Given the description of an element on the screen output the (x, y) to click on. 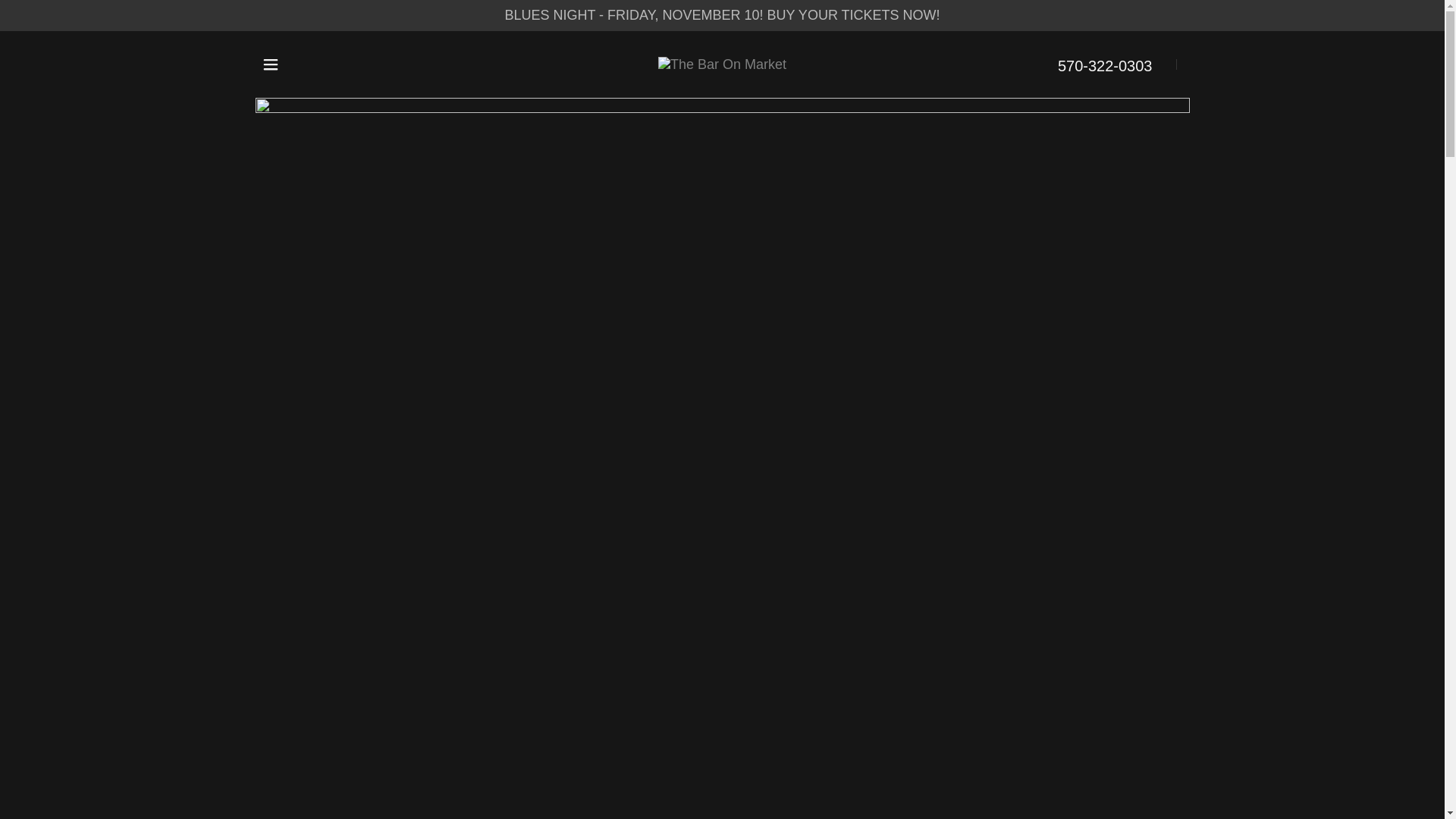
The Bar On Market Element type: hover (722, 63)
570-322-0303 Element type: text (1104, 65)
BLUES NIGHT - FRIDAY, NOVEMBER 10! BUY YOUR TICKETS NOW! Element type: text (722, 15)
